Given the description of an element on the screen output the (x, y) to click on. 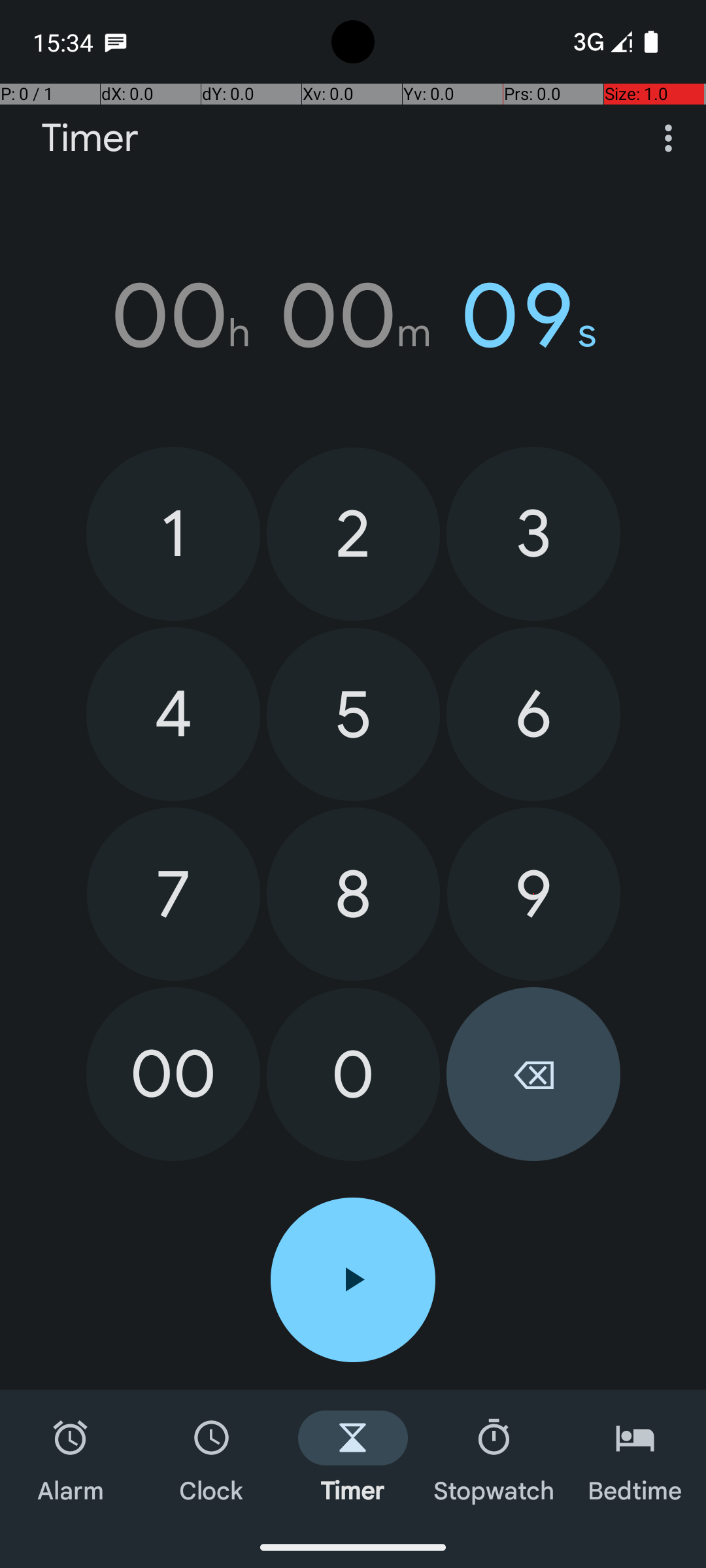
Timer Element type: android.widget.TextView (89, 138)
00h 00m 09s Element type: android.widget.TextView (353, 315)
1 Element type: android.widget.Button (173, 533)
2 Element type: android.widget.Button (352, 533)
3 Element type: android.widget.Button (533, 533)
4 Element type: android.widget.Button (173, 713)
5 Element type: android.widget.Button (352, 713)
6 Element type: android.widget.Button (533, 713)
7 Element type: android.widget.Button (173, 893)
8 Element type: android.widget.Button (352, 893)
9 Element type: android.widget.Button (533, 893)
00 Element type: android.widget.Button (173, 1073)
0 Element type: android.widget.Button (352, 1073)
⌫ Element type: android.widget.Button (533, 1073)
Start Element type: android.widget.Button (352, 1279)
Alarm Element type: android.widget.FrameLayout (70, 1457)
Stopwatch Element type: android.widget.FrameLayout (493, 1457)
Bedtime Element type: android.widget.FrameLayout (635, 1457)
